Given the description of an element on the screen output the (x, y) to click on. 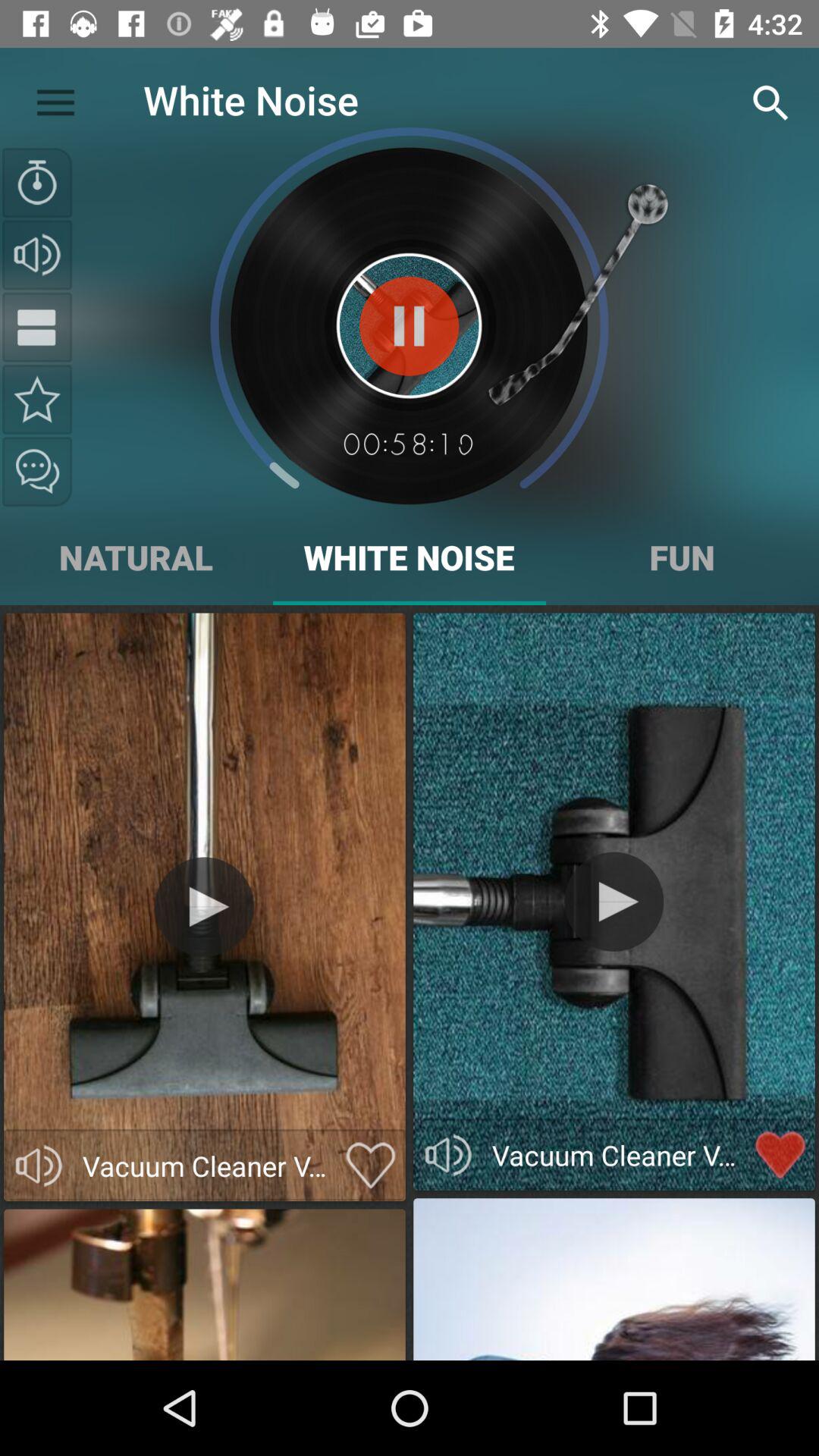
turn up volume (37, 255)
